Given the description of an element on the screen output the (x, y) to click on. 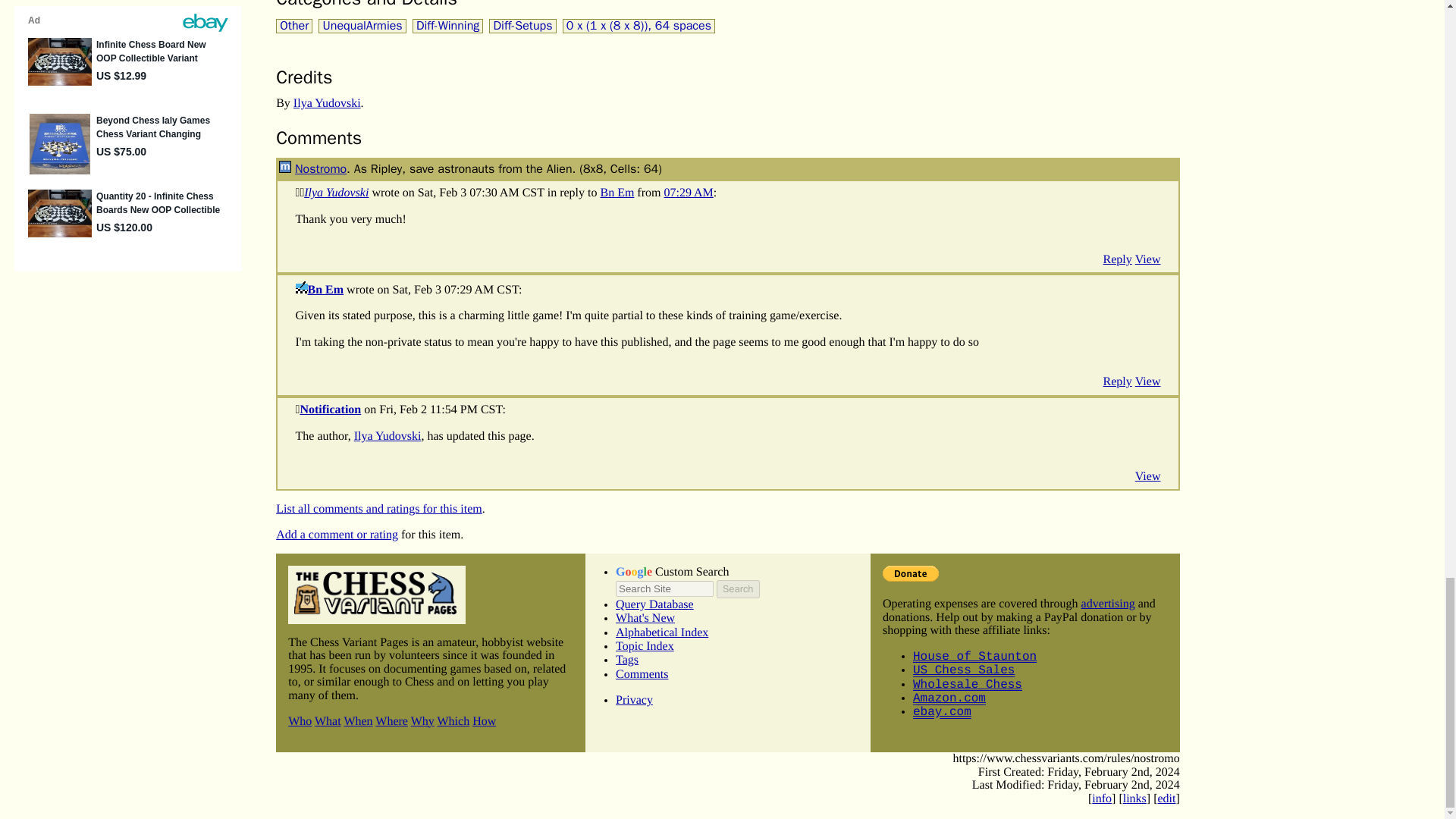
Search (737, 588)
View (1147, 382)
Why (421, 721)
List all comments and ratings for this item (378, 508)
Bn Em (325, 289)
Ilya Yudovski (387, 436)
View (1147, 477)
When (357, 721)
Where (391, 721)
View (1147, 259)
07:29 AM (688, 192)
What (327, 721)
Bn Em (616, 192)
Ilya Yudovski (336, 192)
